Given the description of an element on the screen output the (x, y) to click on. 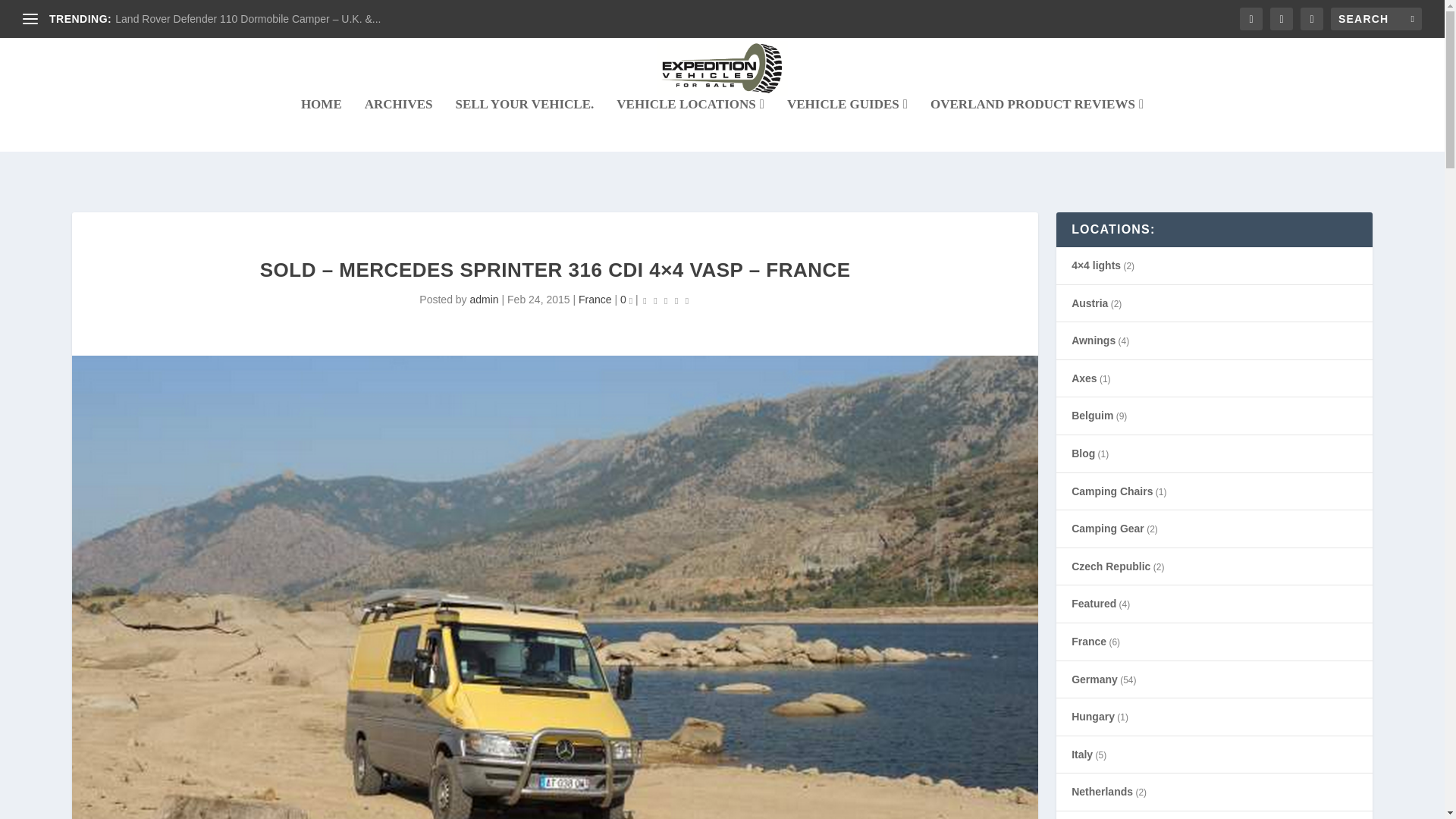
VEHICLE LOCATIONS (689, 124)
OVERLAND PRODUCT REVIEWS (1036, 124)
Search for: (1376, 18)
VEHICLE GUIDES (847, 124)
SELL YOUR VEHICLE. (524, 124)
Rating: 0.00 (665, 300)
admin (482, 299)
France (594, 299)
ARCHIVES (398, 124)
Posts by admin (482, 299)
